Given the description of an element on the screen output the (x, y) to click on. 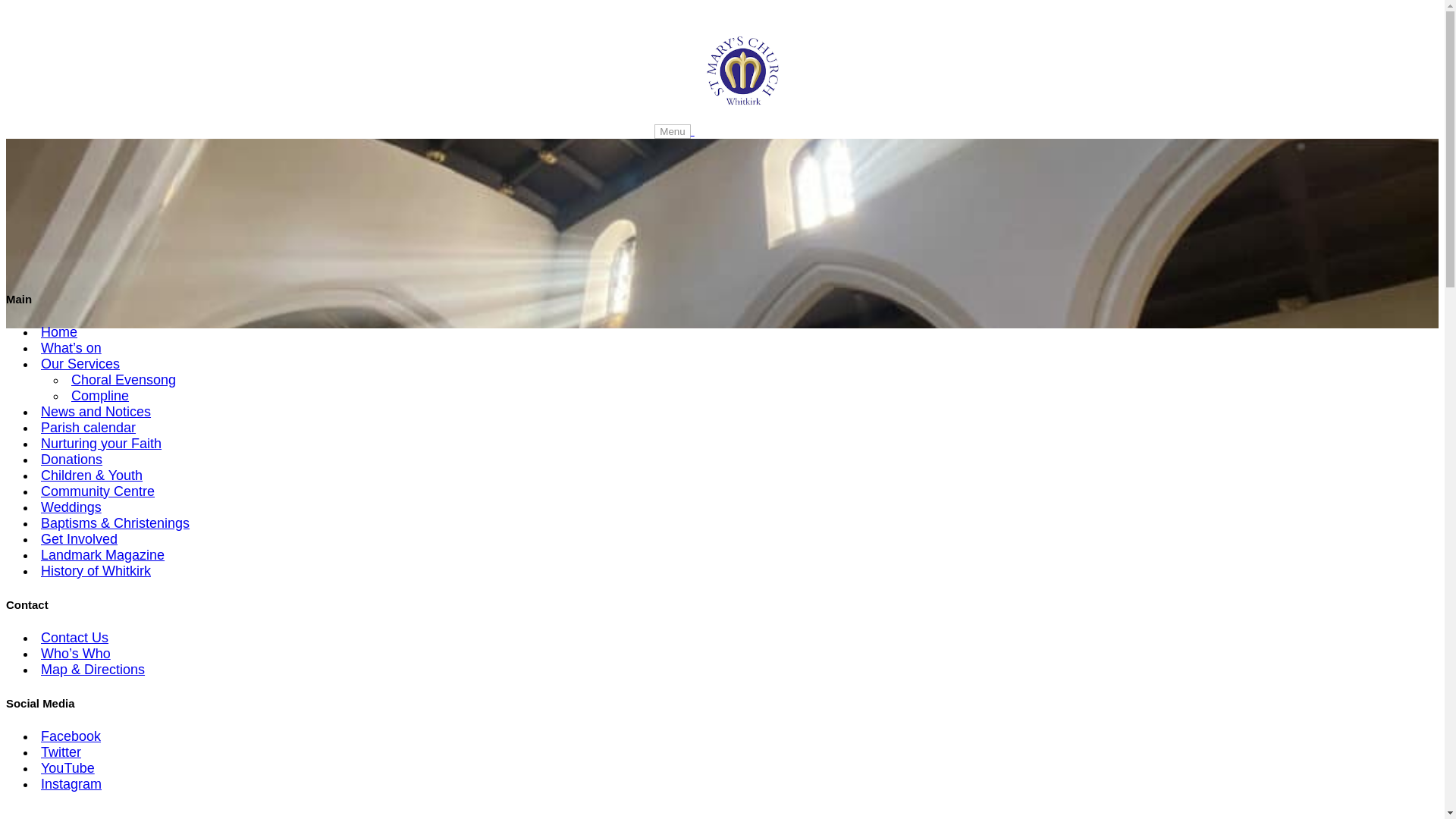
Contact Us (74, 637)
Weddings (71, 507)
Donations (71, 458)
Twitter (60, 752)
Get Involved (79, 538)
Our Services (79, 363)
History of Whitkirk (95, 570)
Landmark Magazine (102, 554)
Community Centre (97, 490)
Parish calendar (87, 427)
YouTube (67, 767)
Instagram (71, 784)
St Mary's Church, Whitkirk (742, 70)
Menu (671, 131)
Compline (99, 395)
